Given the description of an element on the screen output the (x, y) to click on. 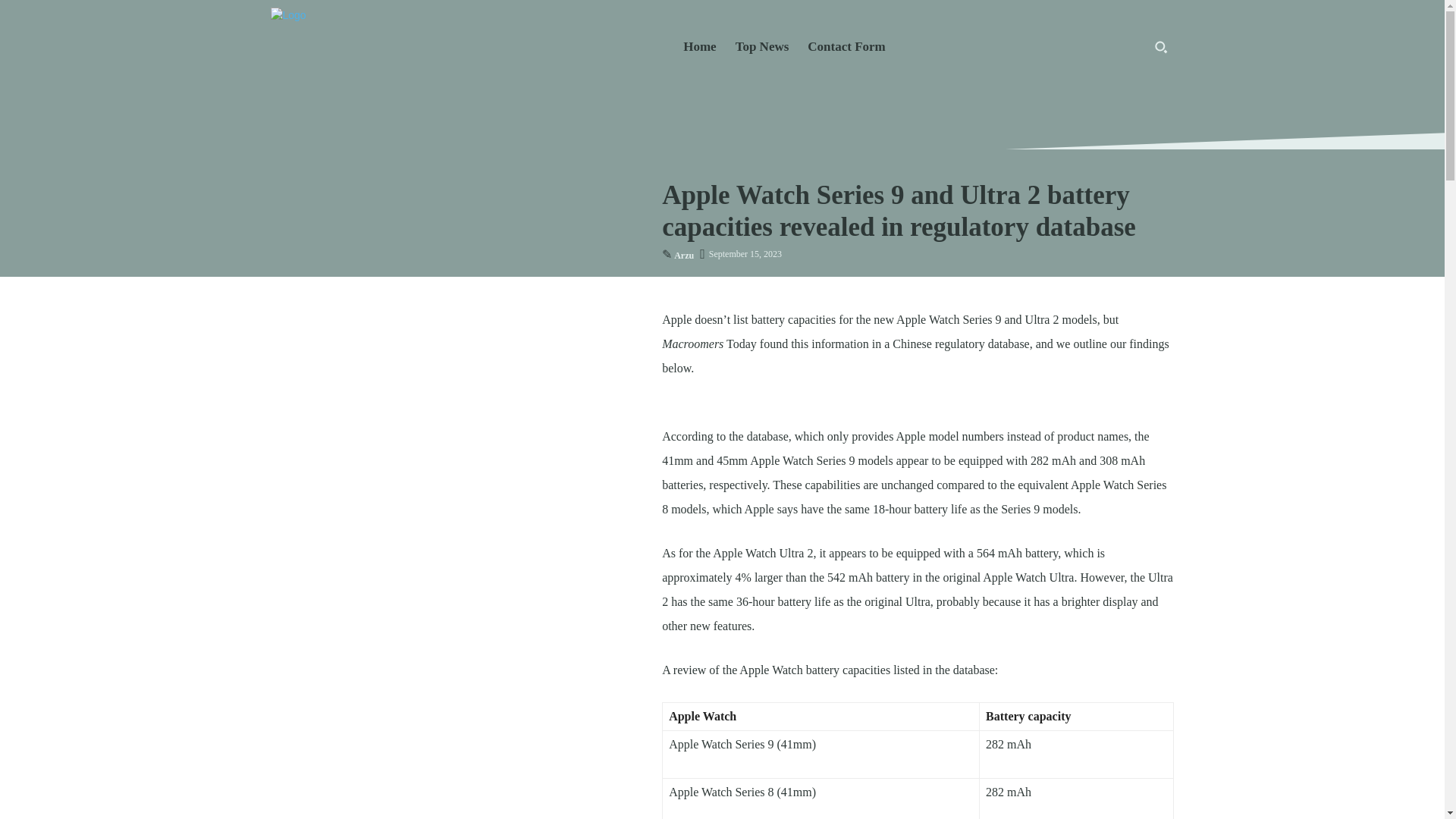
Home (699, 47)
Arzu (684, 255)
Top News (762, 47)
Contact Form (845, 47)
